Given the description of an element on the screen output the (x, y) to click on. 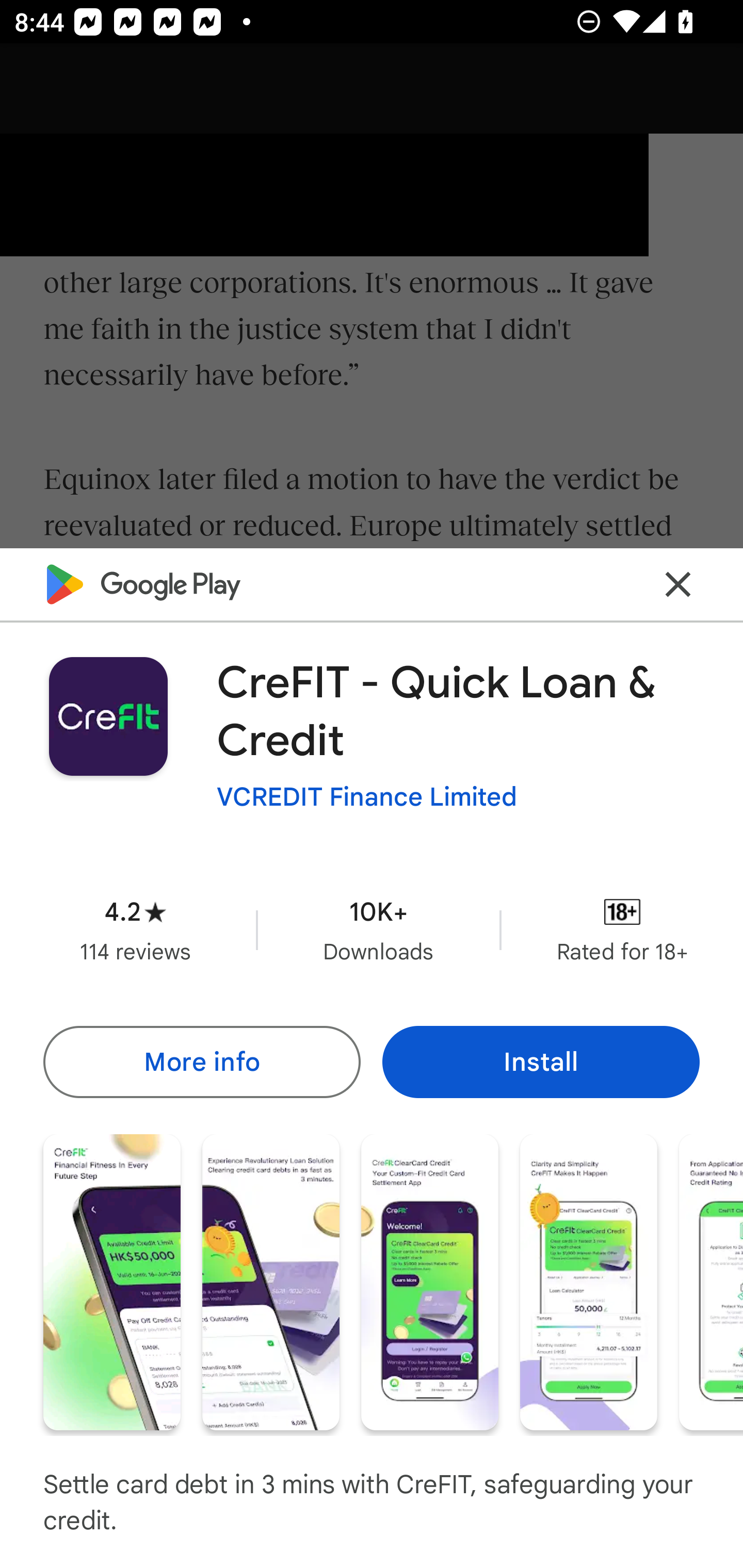
Close (677, 584)
VCREDIT Finance Limited (366, 796)
More info (201, 1061)
Install (540, 1061)
Screenshot "1" of "6" (111, 1281)
Screenshot "2" of "6" (270, 1281)
Screenshot "3" of "6" (429, 1281)
Screenshot "4" of "6" (588, 1281)
